Given the description of an element on the screen output the (x, y) to click on. 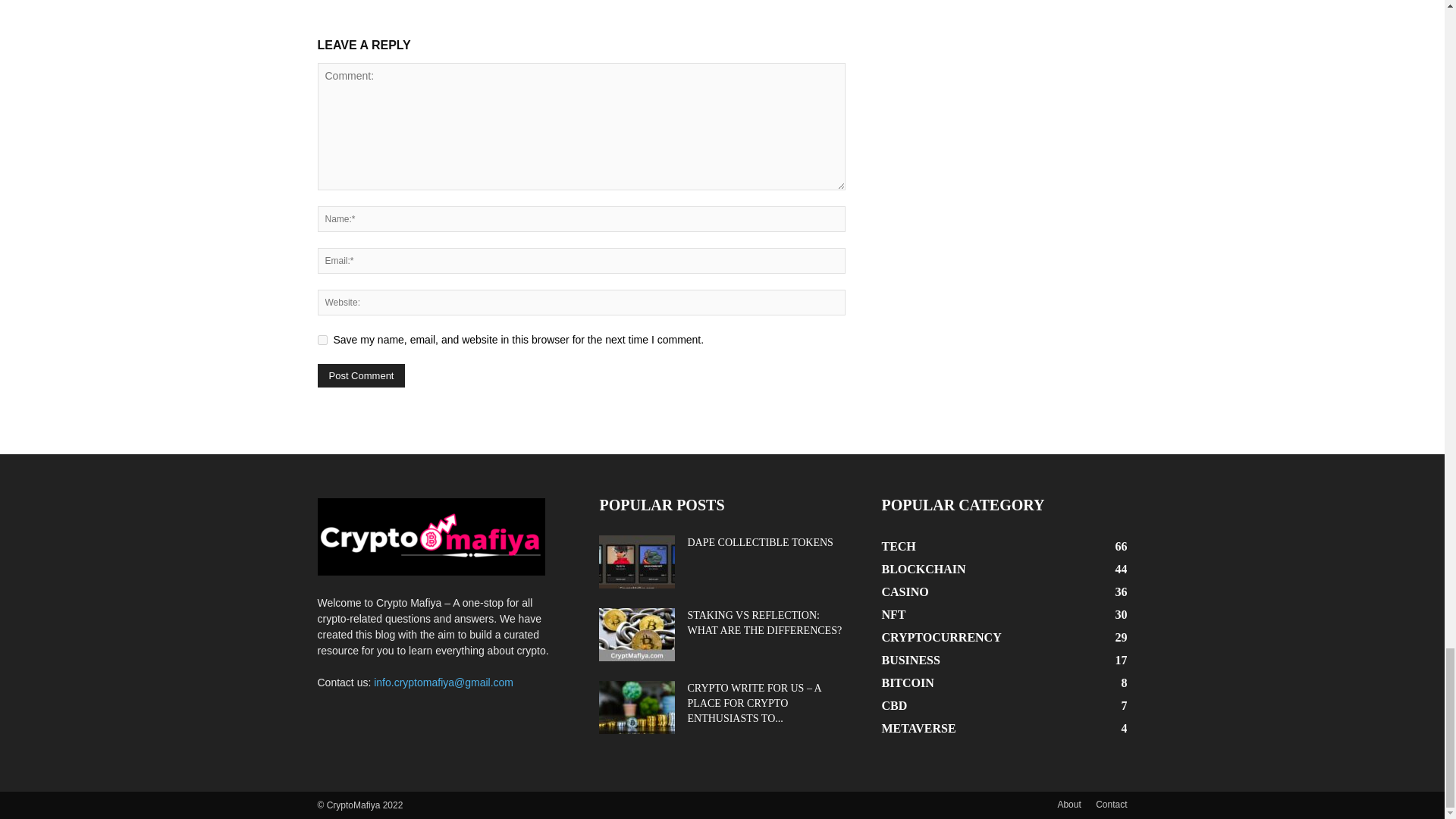
Post Comment (360, 375)
yes (321, 339)
